Given the description of an element on the screen output the (x, y) to click on. 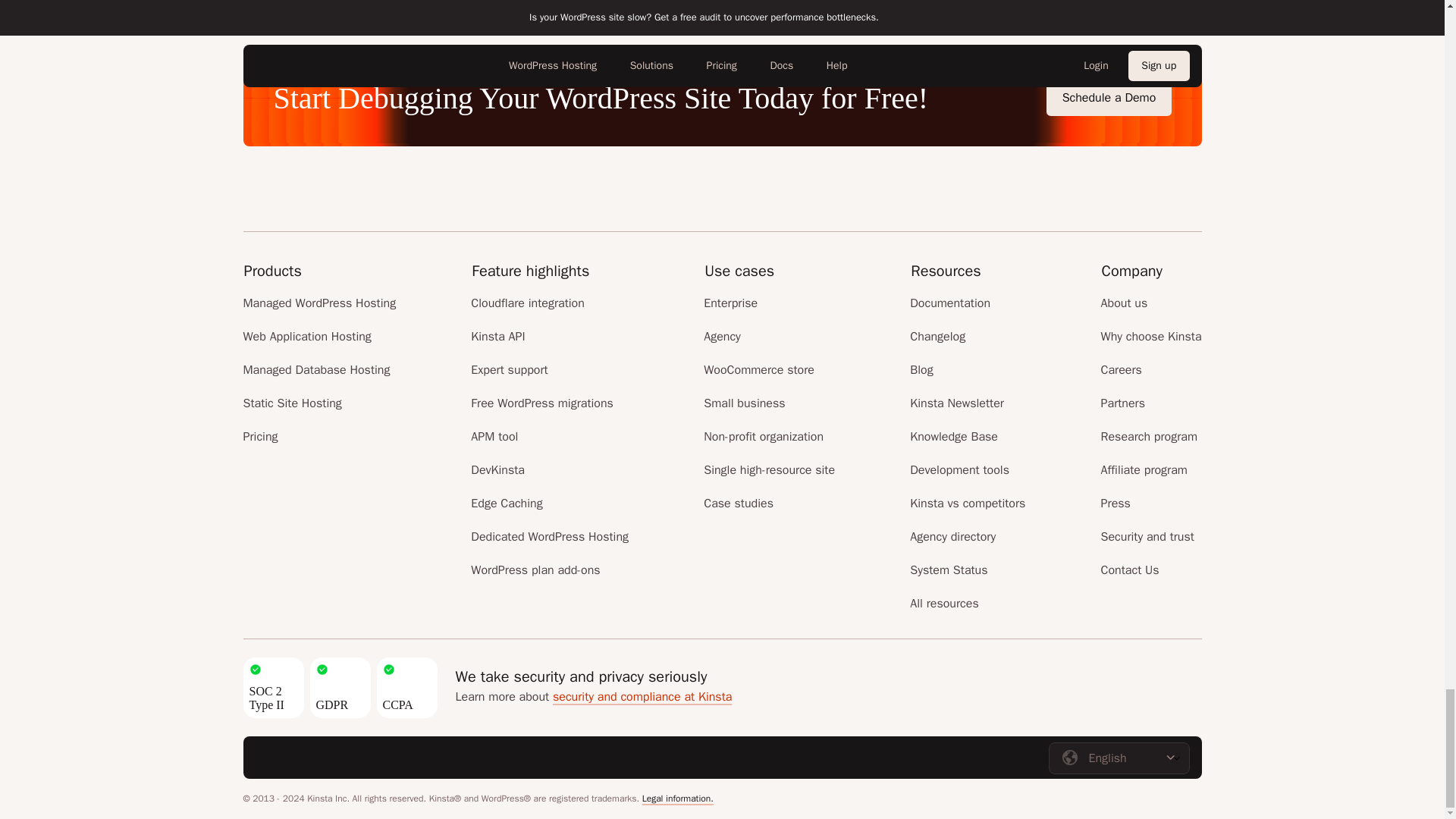
Kinsta on Facebook (439, 755)
Kinsta on LinkedIn (470, 755)
Kinsta on YouTube (409, 755)
Kinsta on GitHub (348, 755)
Kinsta on Twitter (378, 755)
